Given the description of an element on the screen output the (x, y) to click on. 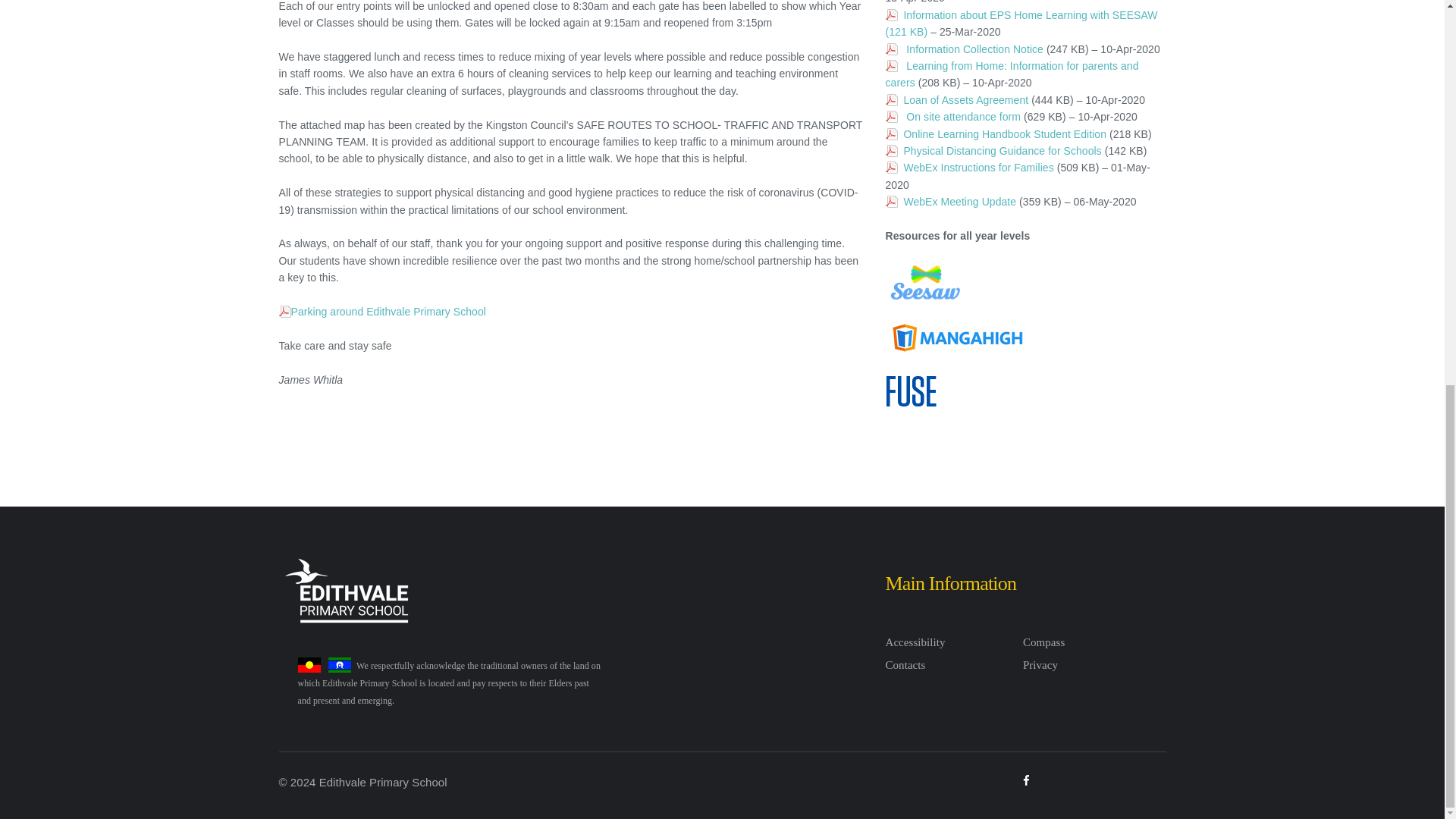
Edithvale Primary School (349, 594)
